Given the description of an element on the screen output the (x, y) to click on. 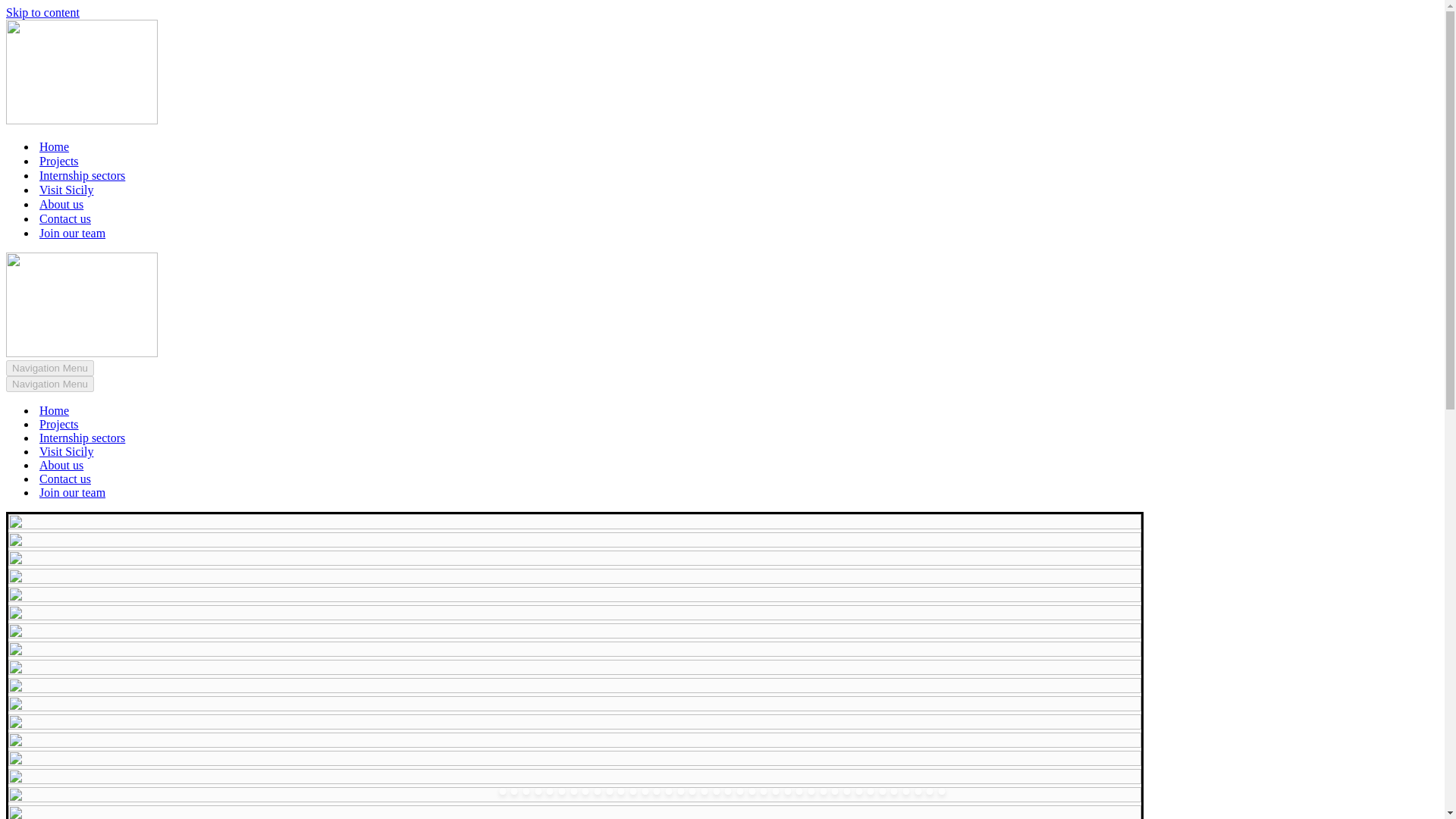
Visit Sicily (66, 451)
Home (53, 410)
About us (60, 465)
Visit Sicily (66, 189)
Navigation Menu (49, 383)
Skip to content (42, 11)
Join our team (71, 233)
Contact us (64, 218)
Navigation Menu (49, 367)
Join our team (71, 492)
Internship sectors (82, 438)
Contact us (64, 479)
Projects (58, 160)
About us (60, 204)
Projects (58, 424)
